Given the description of an element on the screen output the (x, y) to click on. 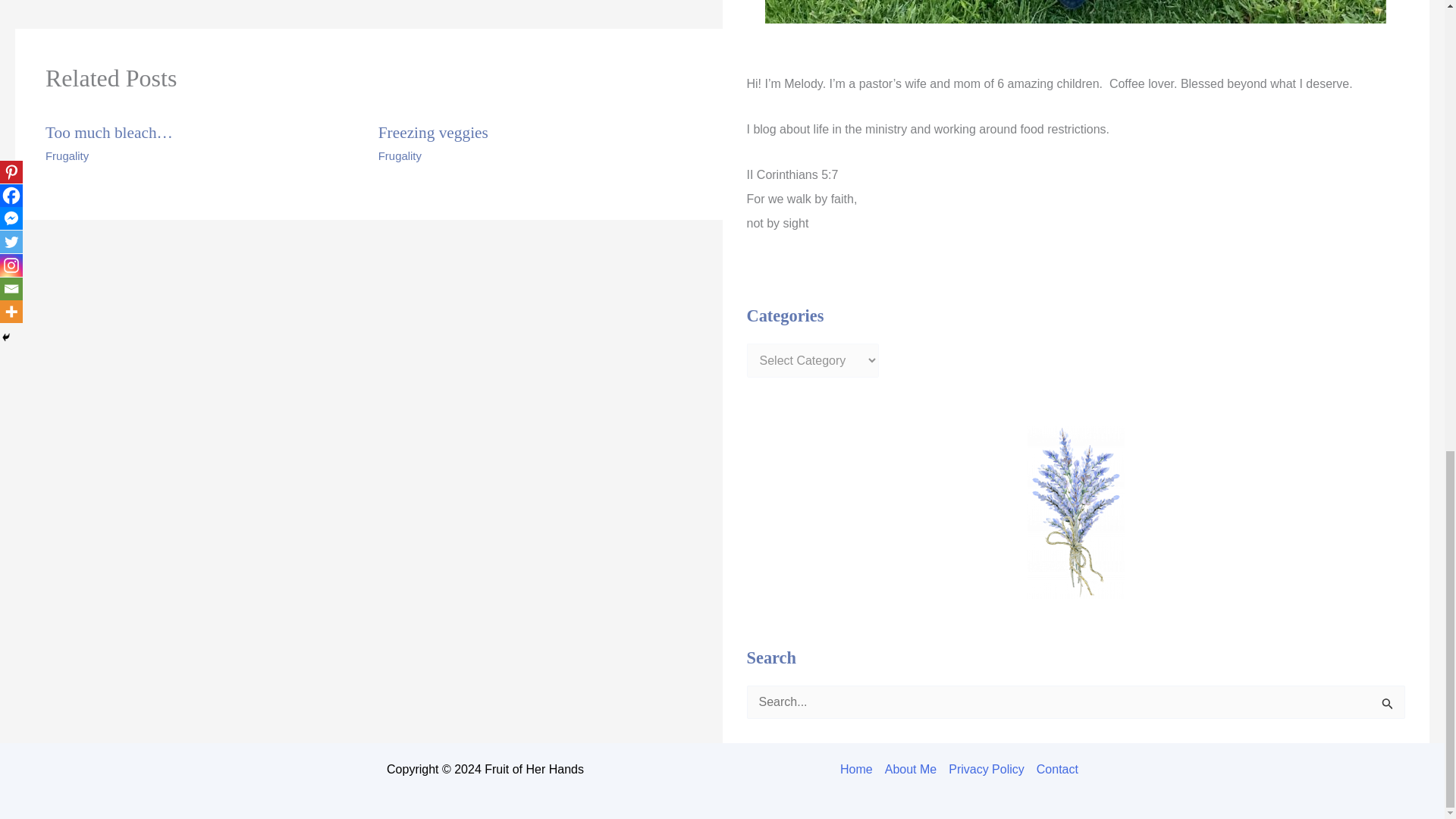
Do you have a cause? (119, 1)
Attica, IN (601, 1)
